Given the description of an element on the screen output the (x, y) to click on. 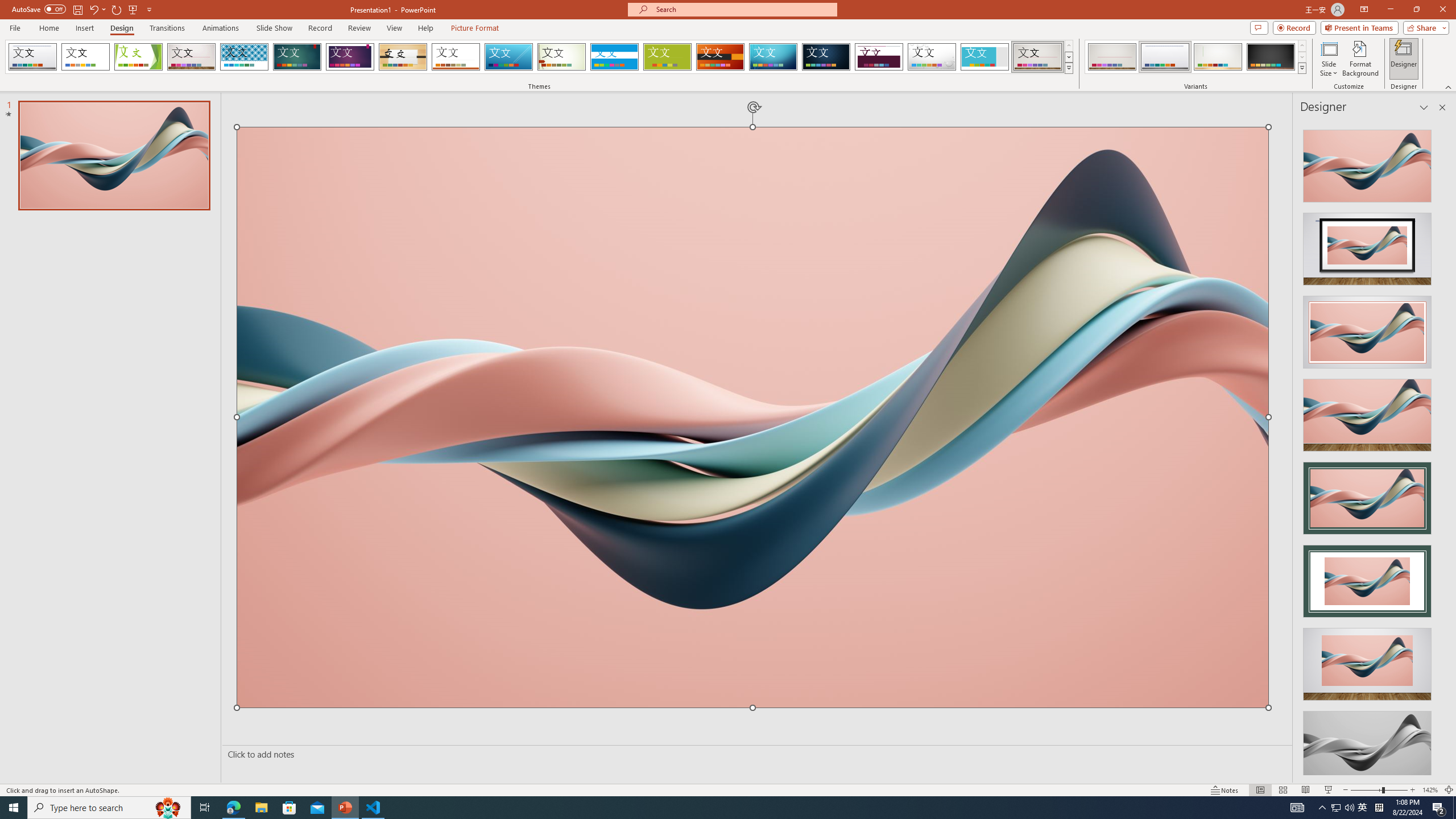
Picture Format (475, 28)
Recommended Design: Design Idea (1366, 162)
Wisp (561, 56)
Gallery Variant 1 (1112, 56)
Gallery Variant 2 (1164, 56)
